Given the description of an element on the screen output the (x, y) to click on. 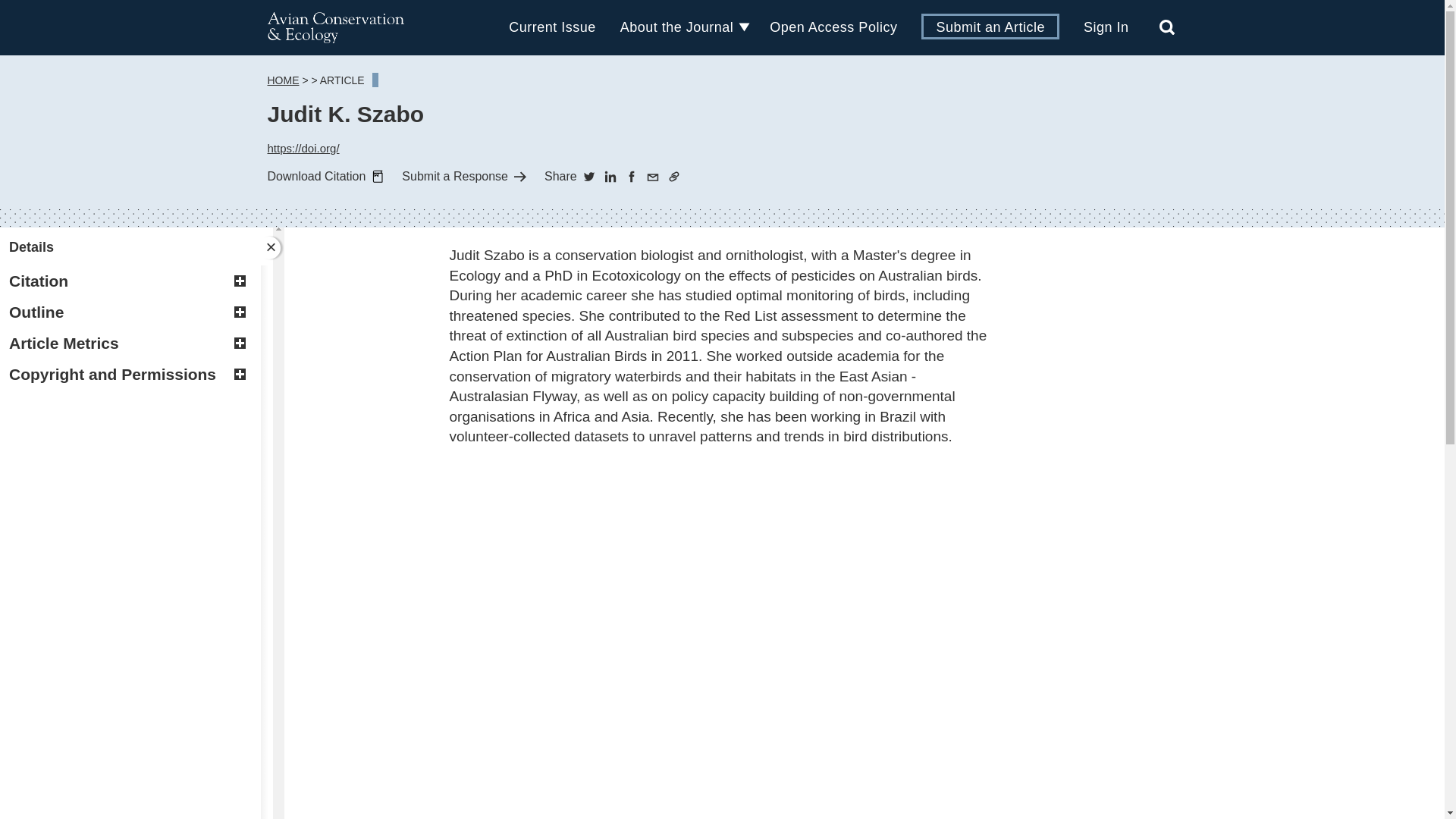
About the Journal (676, 27)
Submit a Response (463, 176)
HOME (282, 80)
Submit an Article (990, 26)
Download Citation (325, 176)
Current Issue (551, 27)
Open Access Policy (833, 27)
Sign In (1106, 27)
